Given the description of an element on the screen output the (x, y) to click on. 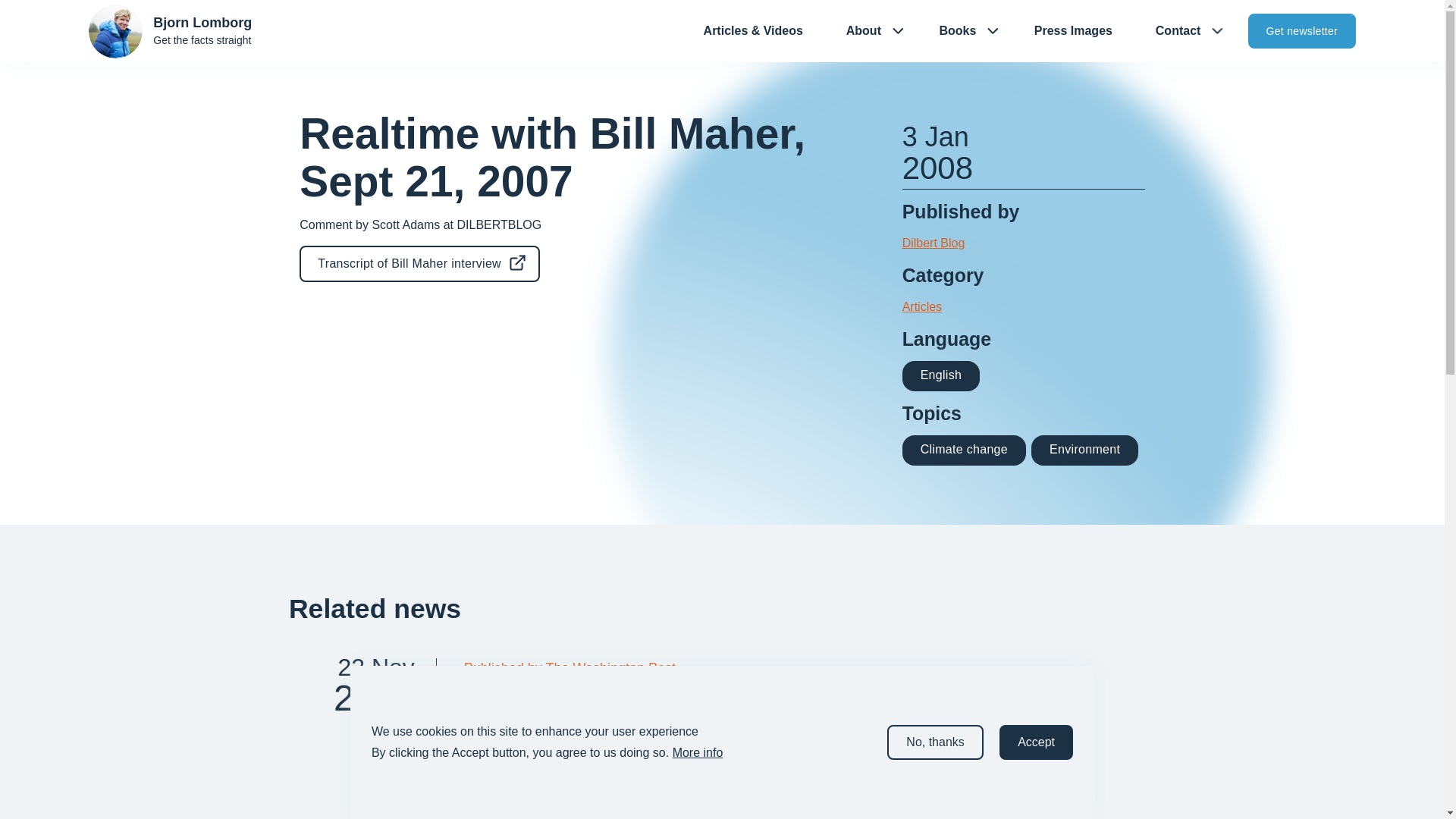
Get newsletter (1295, 30)
Environment (1084, 450)
Climate change (964, 450)
English (940, 376)
English (941, 374)
Environment (1084, 449)
Transcript of Bill Maher interview (362, 738)
Get newsletter (419, 263)
Get the facts straight (1301, 30)
